Given the description of an element on the screen output the (x, y) to click on. 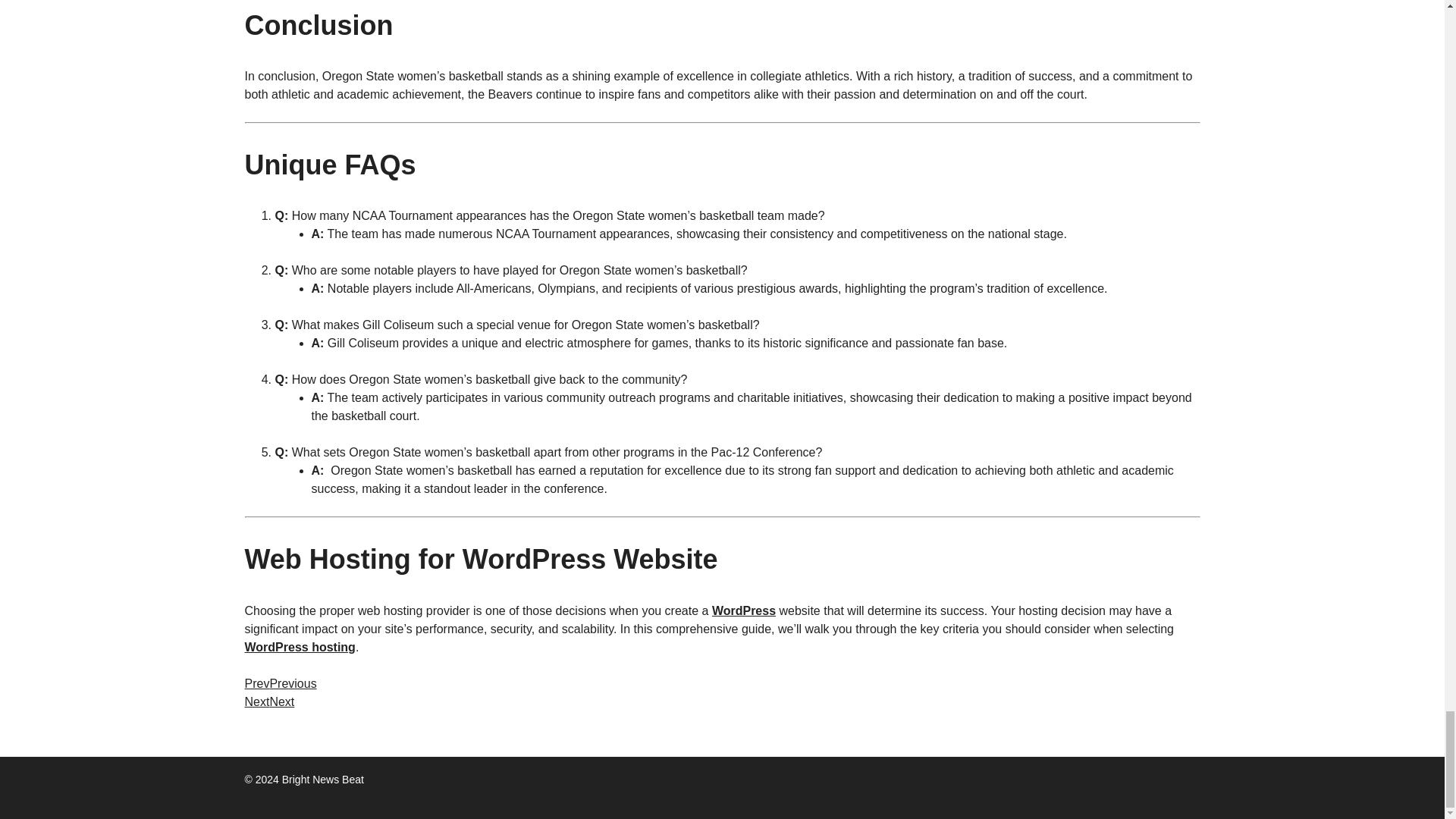
WordPress hosting (299, 646)
PrevPrevious (279, 683)
NextNext (269, 701)
WordPress (743, 610)
